Given the description of an element on the screen output the (x, y) to click on. 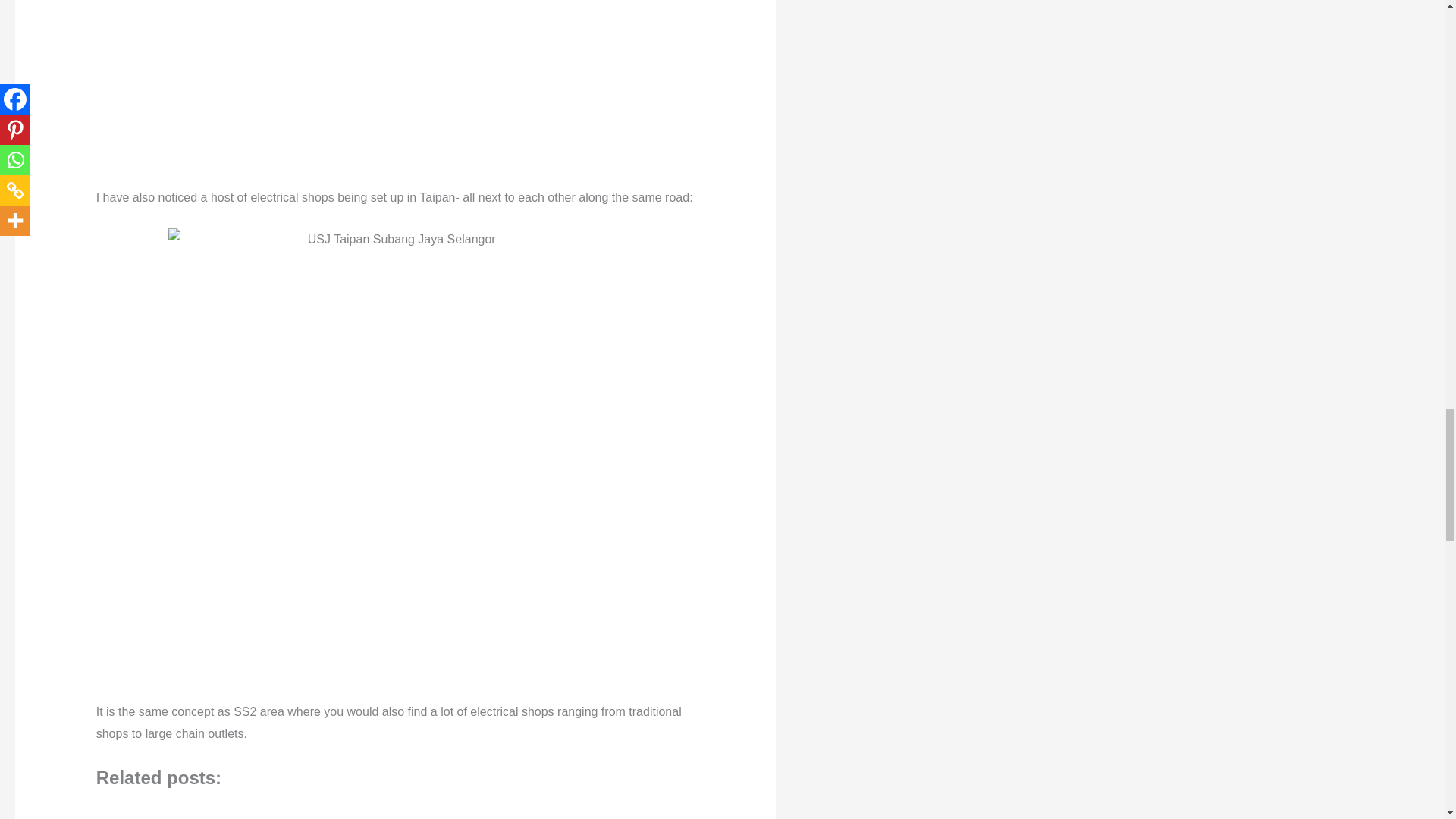
KFC breakfast set (524, 812)
Inside a chrysanthemum farm in Cameron Highlands (401, 812)
Pelabuhan Klang to Pulau Ketam- therapeutic getaway (157, 812)
Reasonably priced bread and cakes in Malaysia (279, 812)
